Given the description of an element on the screen output the (x, y) to click on. 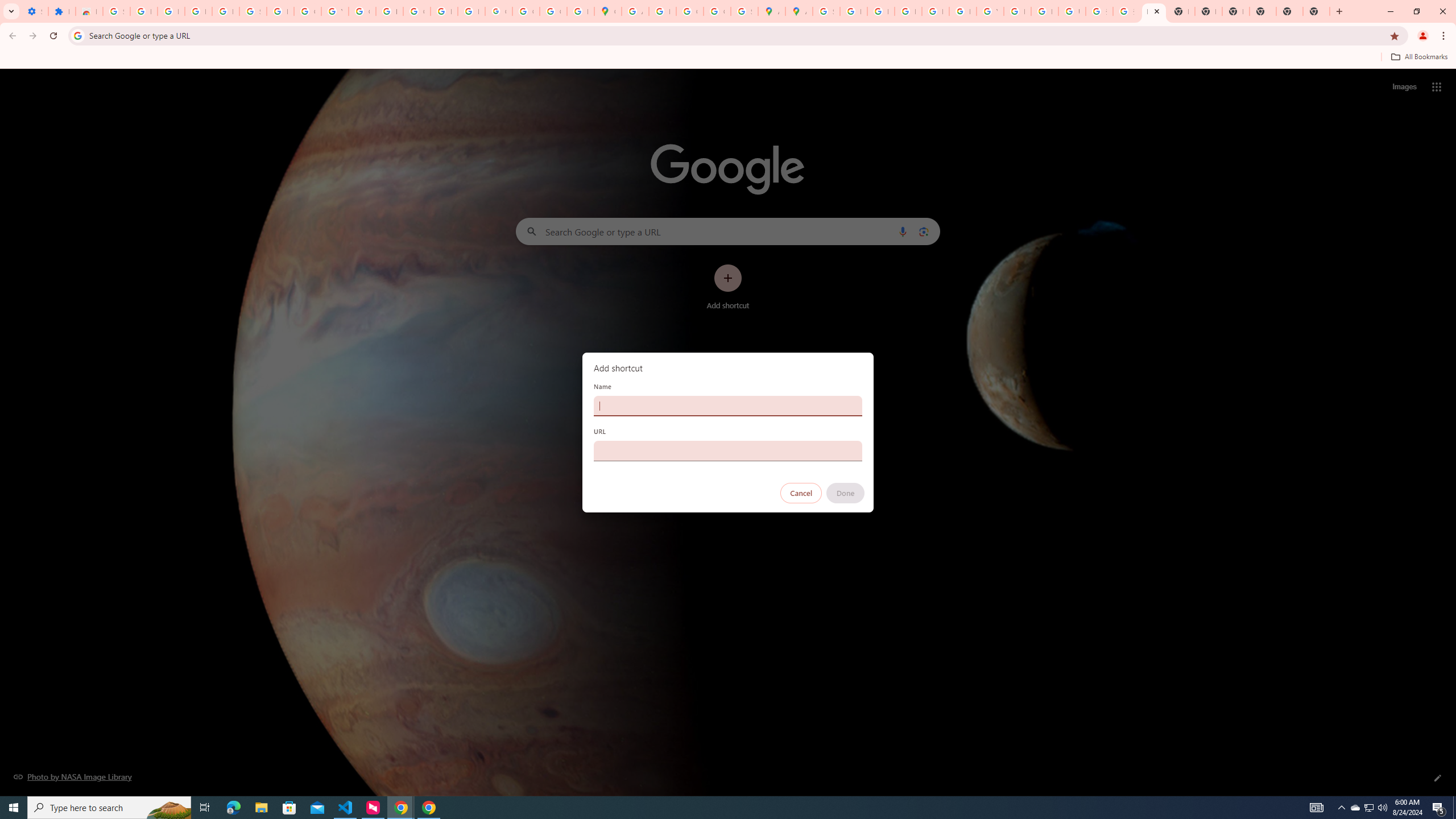
Learn how to find your photos - Google Photos Help (197, 11)
New Tab (1289, 11)
YouTube (334, 11)
Privacy Help Center - Policies Help (908, 11)
Sign in - Google Accounts (116, 11)
Extensions (61, 11)
New Tab (1316, 11)
Delete photos & videos - Computer - Google Photos Help (170, 11)
